Given the description of an element on the screen output the (x, y) to click on. 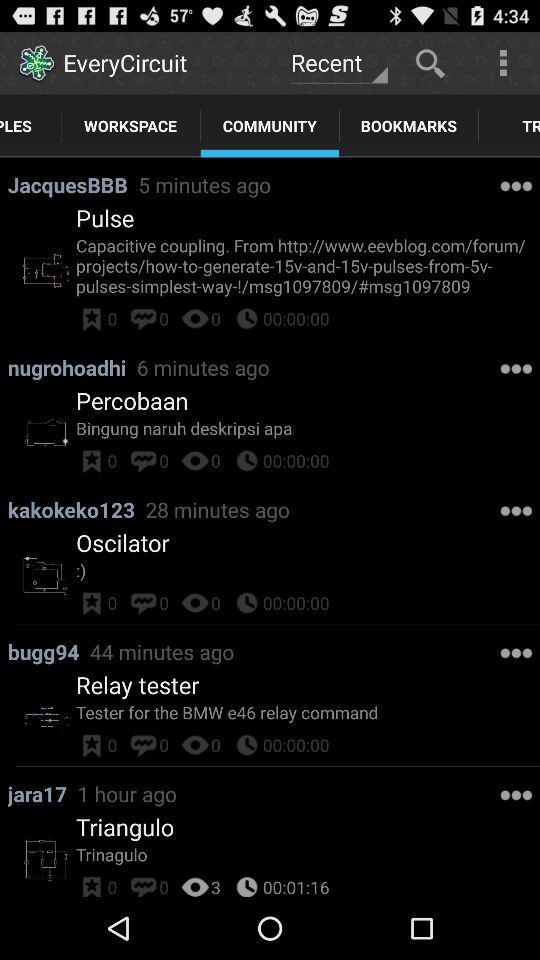
select the icon above bingung naruh deskripsi item (132, 400)
